Given the description of an element on the screen output the (x, y) to click on. 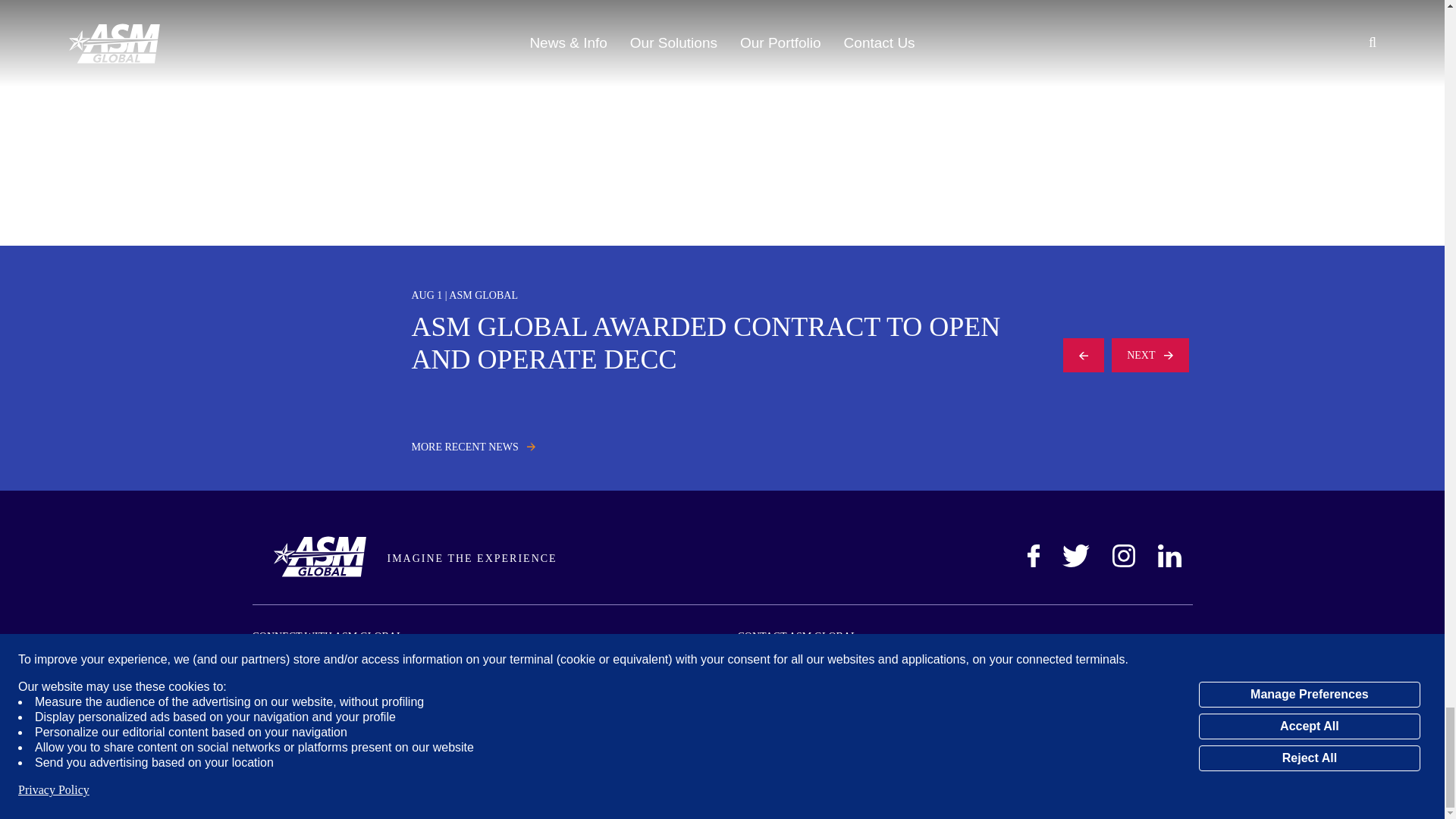
Twitter (1075, 555)
LinkedIn (1168, 555)
Instagram (1123, 555)
